Given the description of an element on the screen output the (x, y) to click on. 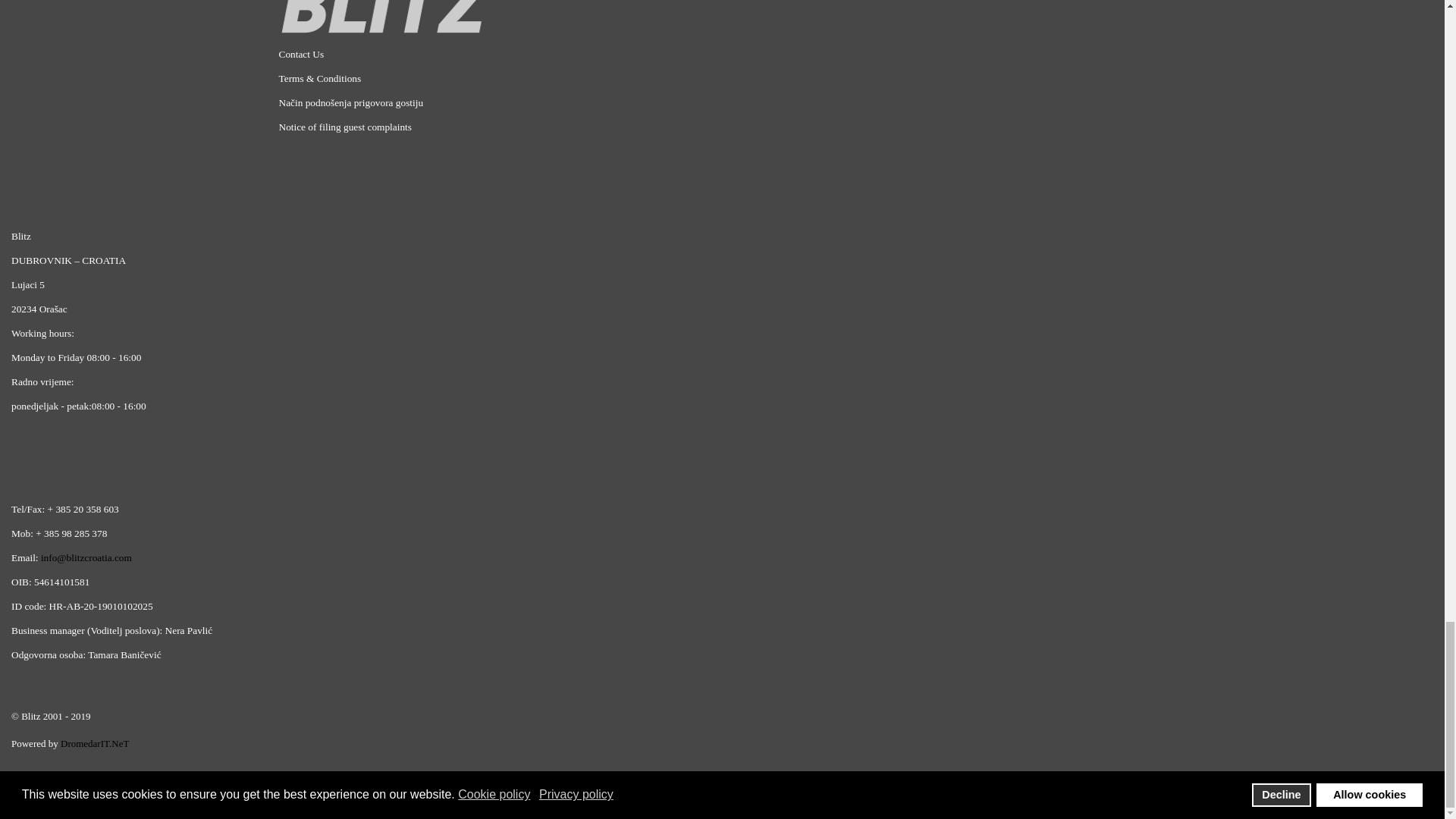
Notice of filing guest complaints (345, 126)
DromedarIT.NeT (95, 743)
DromedarIT.NeT (95, 743)
Contact Us (301, 53)
